Given the description of an element on the screen output the (x, y) to click on. 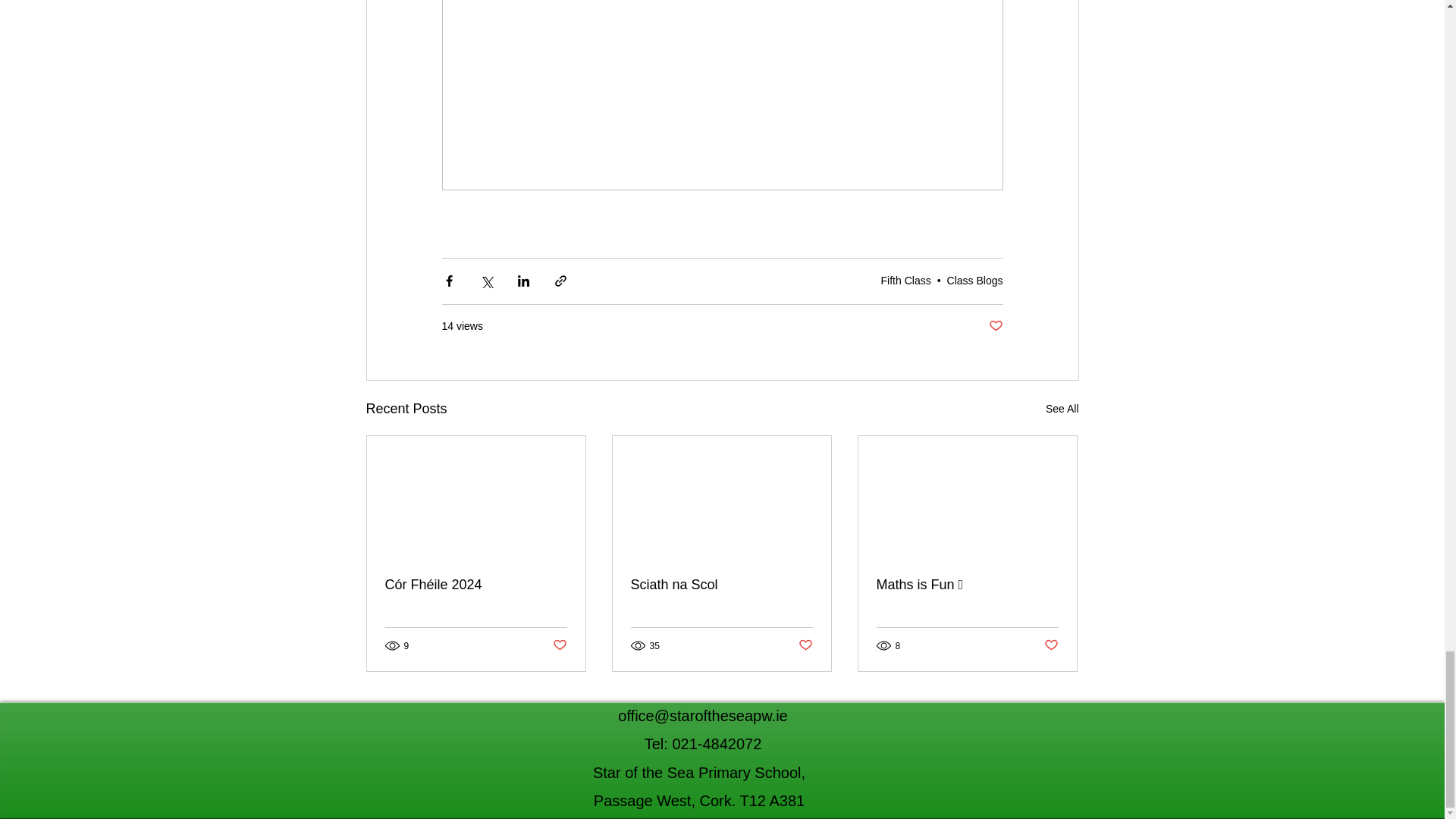
Fifth Class (905, 280)
Class Blogs (975, 280)
See All (1061, 409)
Post not marked as liked (995, 326)
